Given the description of an element on the screen output the (x, y) to click on. 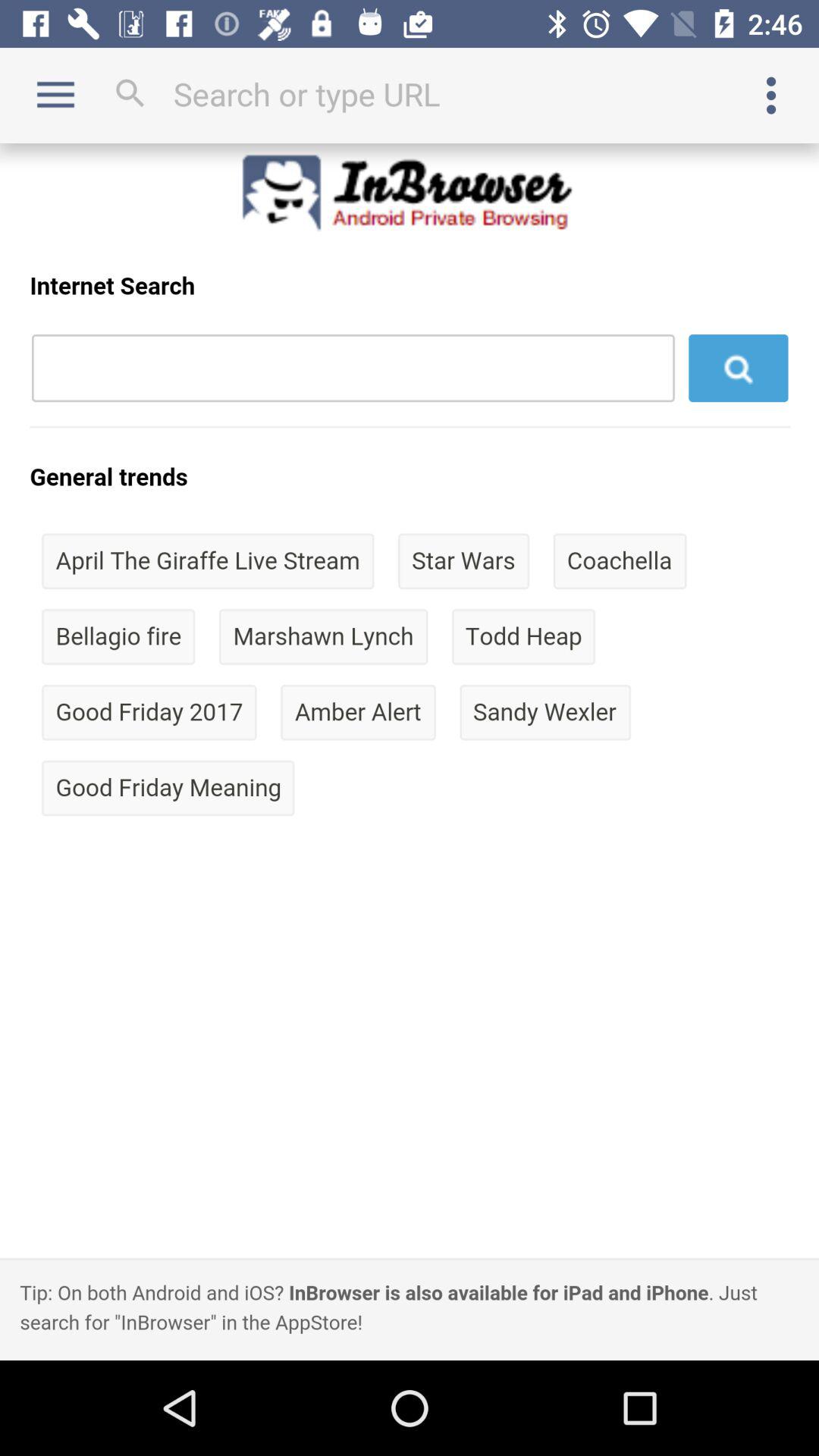
see more info (771, 95)
